Given the description of an element on the screen output the (x, y) to click on. 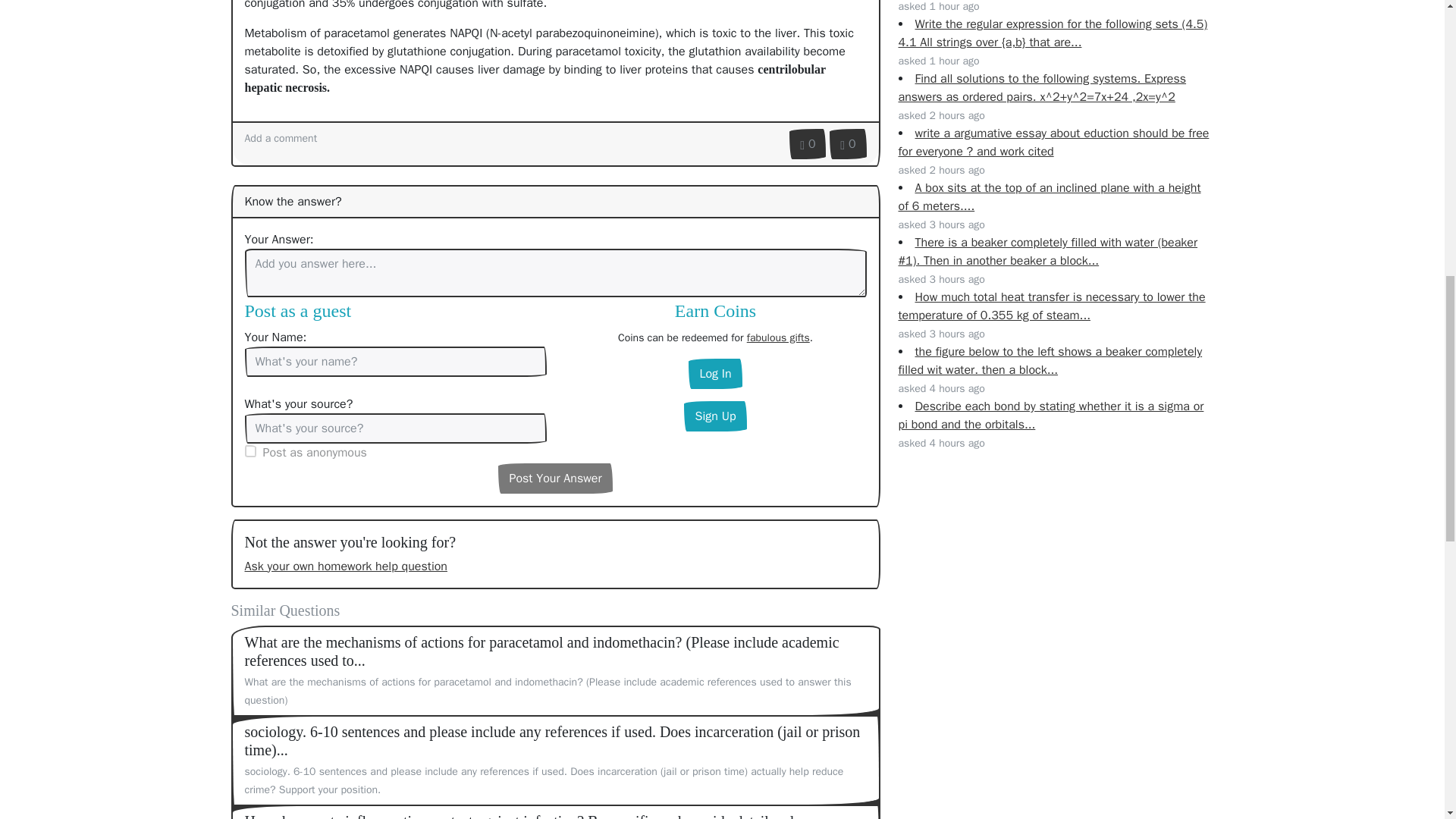
0 (847, 143)
Log In (714, 373)
0 (807, 143)
Sign Up (714, 416)
This is useful and clear (807, 143)
fabulous gifts (777, 337)
This is unclear or not useful (847, 143)
Add a comment (280, 137)
Ask your own homework help question (345, 566)
